Given the description of an element on the screen output the (x, y) to click on. 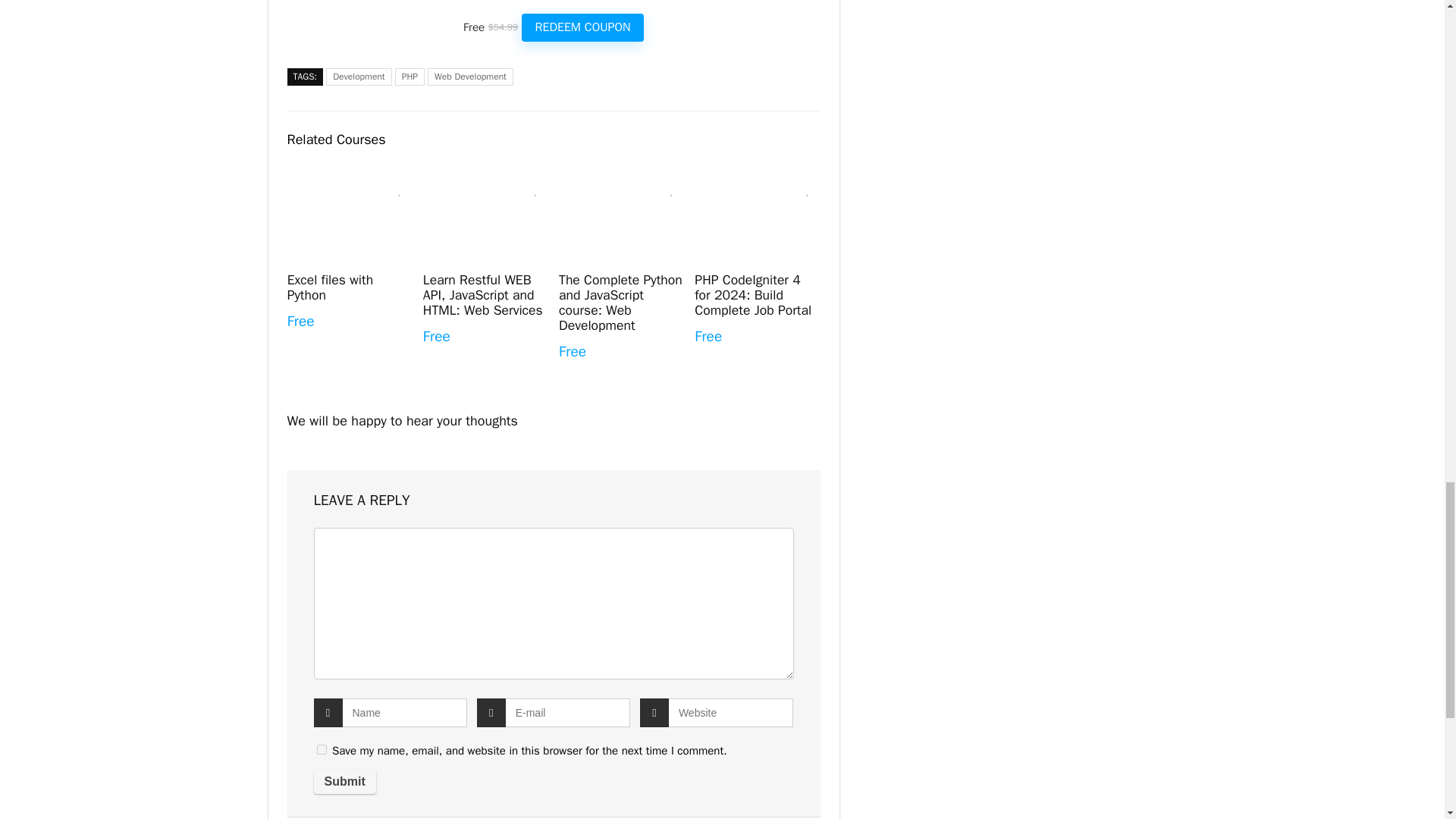
PHP CodeIgniter 4 for 2024: Build Complete Job Portal (752, 294)
Learn Restful WEB API, JavaScript and HTML: Web Services (483, 294)
yes (321, 749)
Submit (344, 781)
Web Development (470, 76)
PHP (409, 76)
Development (358, 76)
Excel files with Python (329, 287)
Submit (344, 781)
REDEEM COUPON (582, 27)
The Complete Python and JavaScript course: Web Development (620, 302)
